Given the description of an element on the screen output the (x, y) to click on. 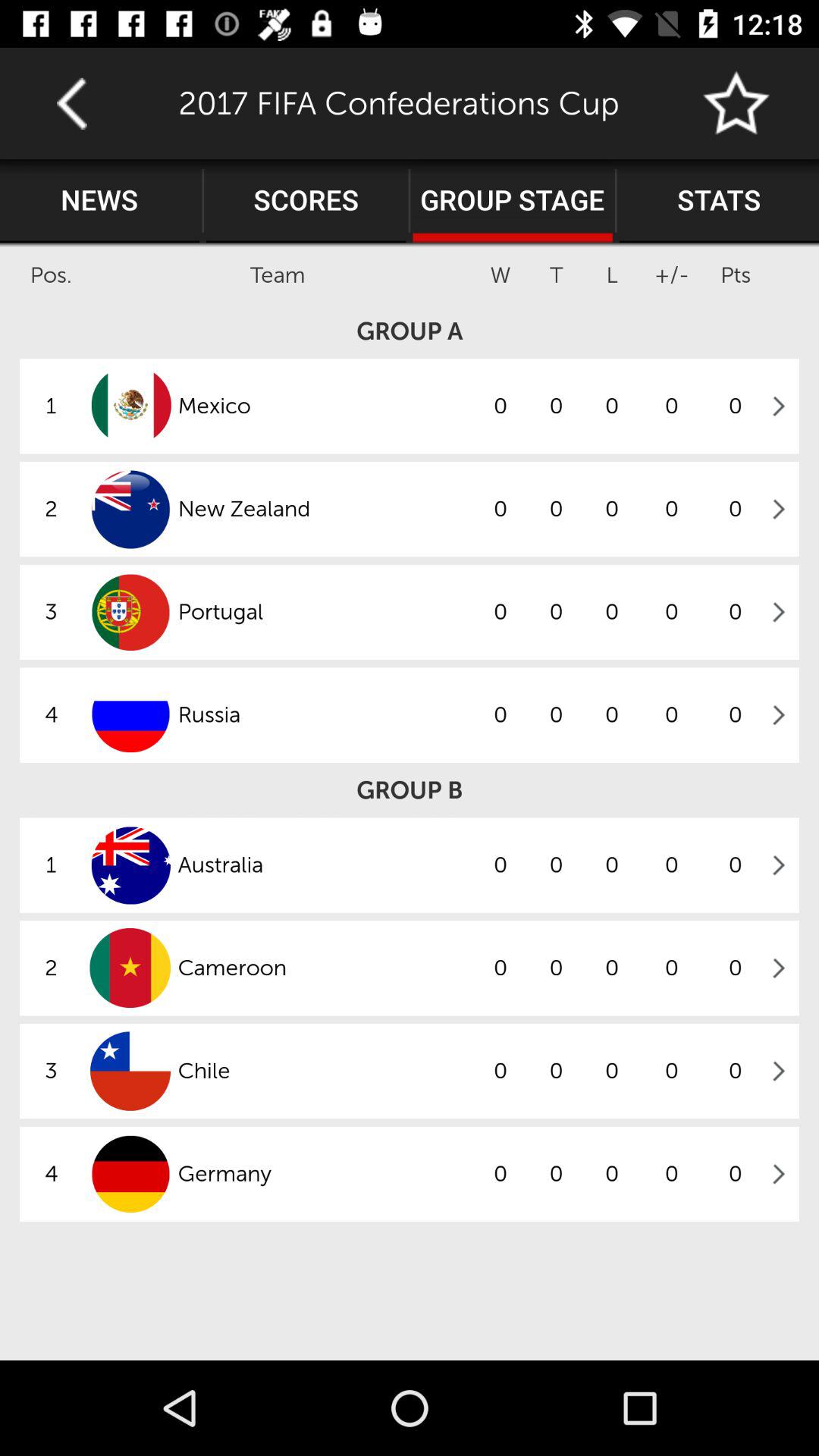
favorite the 2017 fifa cup (736, 103)
